Given the description of an element on the screen output the (x, y) to click on. 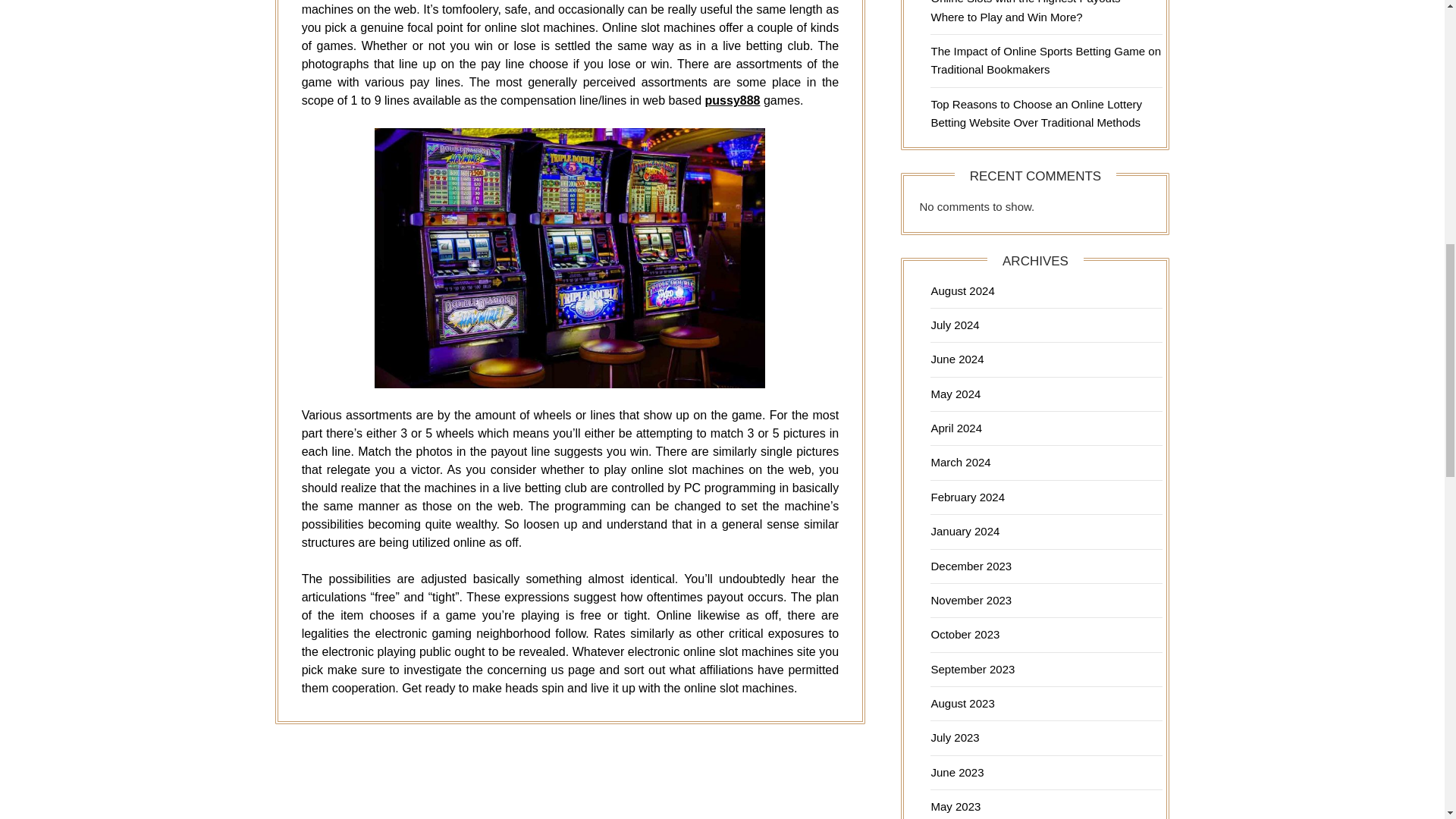
August 2024 (962, 290)
July 2024 (954, 324)
April 2024 (955, 427)
December 2023 (970, 565)
June 2024 (957, 358)
January 2024 (964, 530)
May 2024 (954, 393)
May 2023 (954, 806)
